Given the description of an element on the screen output the (x, y) to click on. 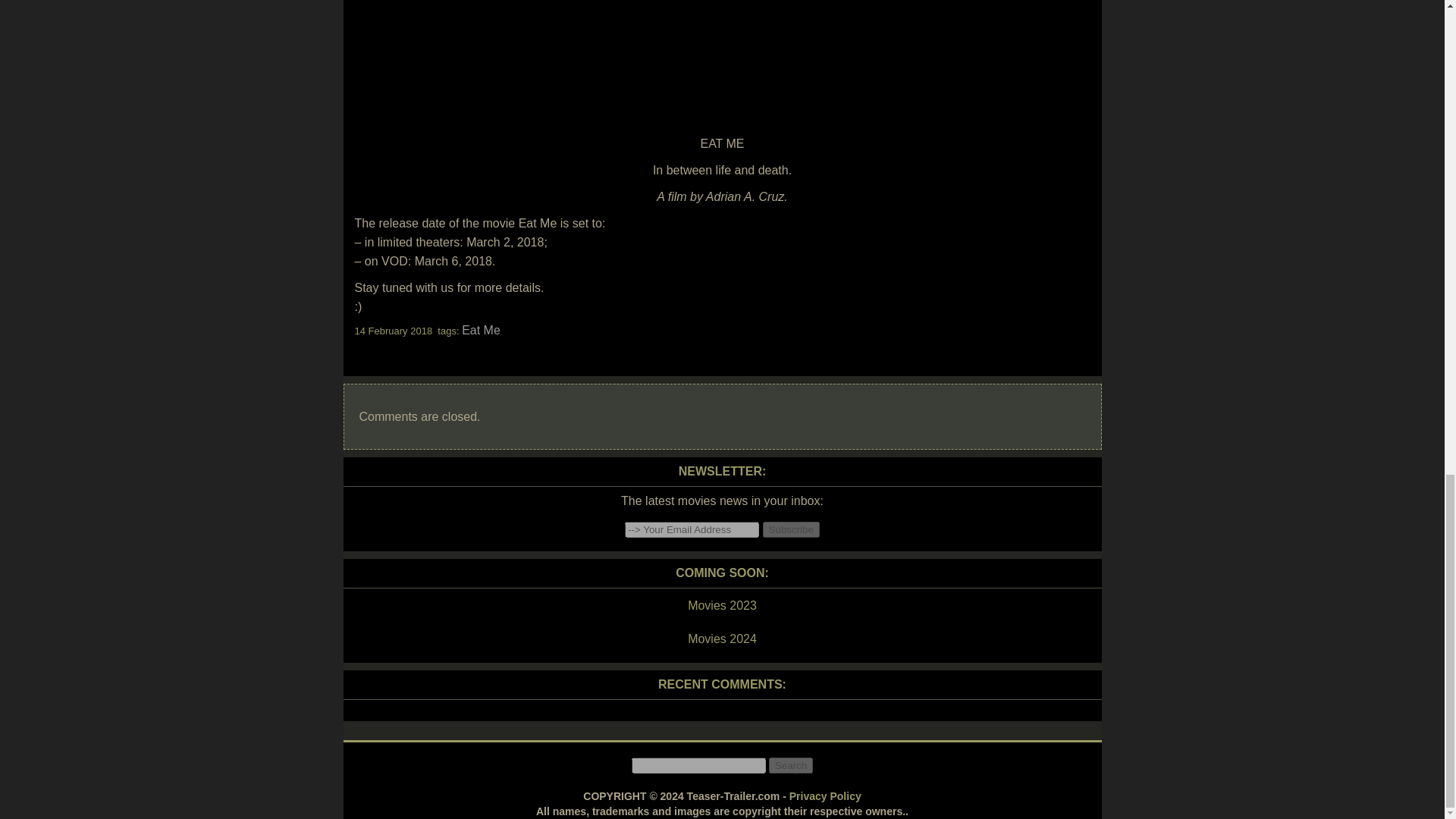
Eat Me (480, 329)
Search (790, 765)
Search (790, 765)
Movies 2024 (721, 639)
Subscribe (790, 529)
Movies 2023 (721, 605)
Subscribe (790, 529)
Privacy Policy (825, 796)
